Given the description of an element on the screen output the (x, y) to click on. 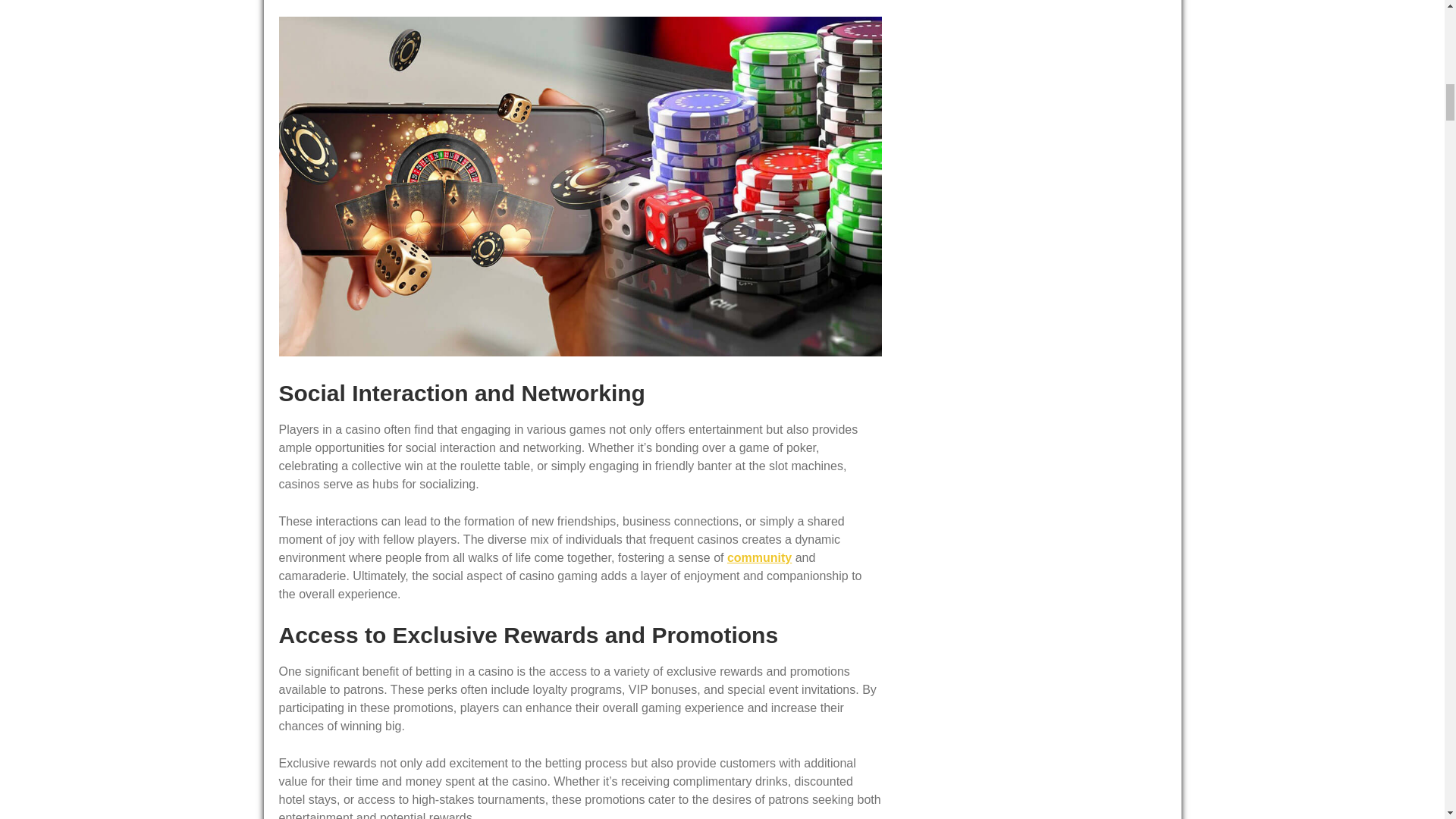
community (759, 557)
